Given the description of an element on the screen output the (x, y) to click on. 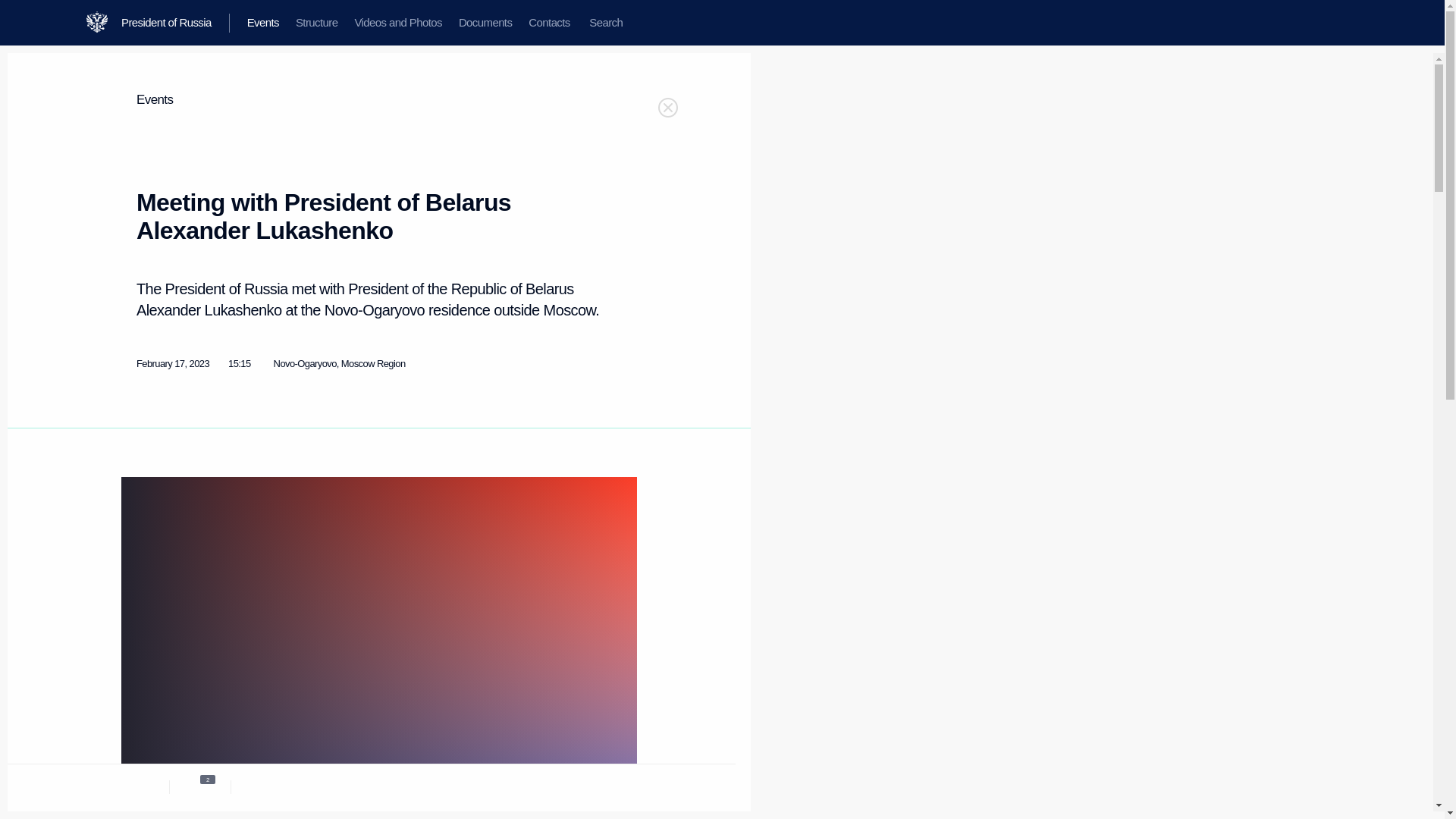
Events (262, 22)
Videos and Photos (397, 22)
Structure (316, 22)
Video (261, 786)
Contacts (548, 22)
Text (137, 786)
Events (154, 99)
Documents (484, 22)
President of Russia (175, 22)
Share (593, 784)
Photo (200, 786)
Search (605, 22)
Global website search (605, 22)
